Given the description of an element on the screen output the (x, y) to click on. 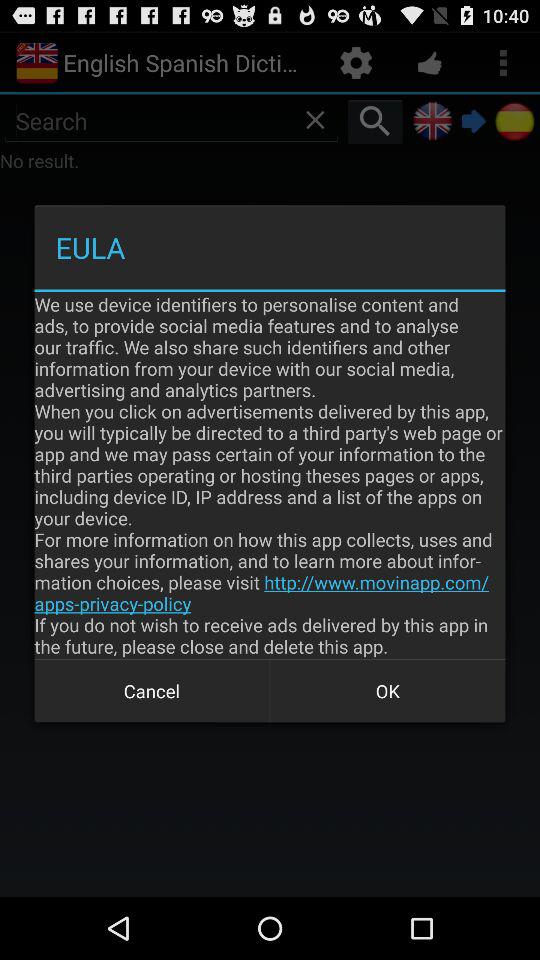
choose ok icon (387, 690)
